Given the description of an element on the screen output the (x, y) to click on. 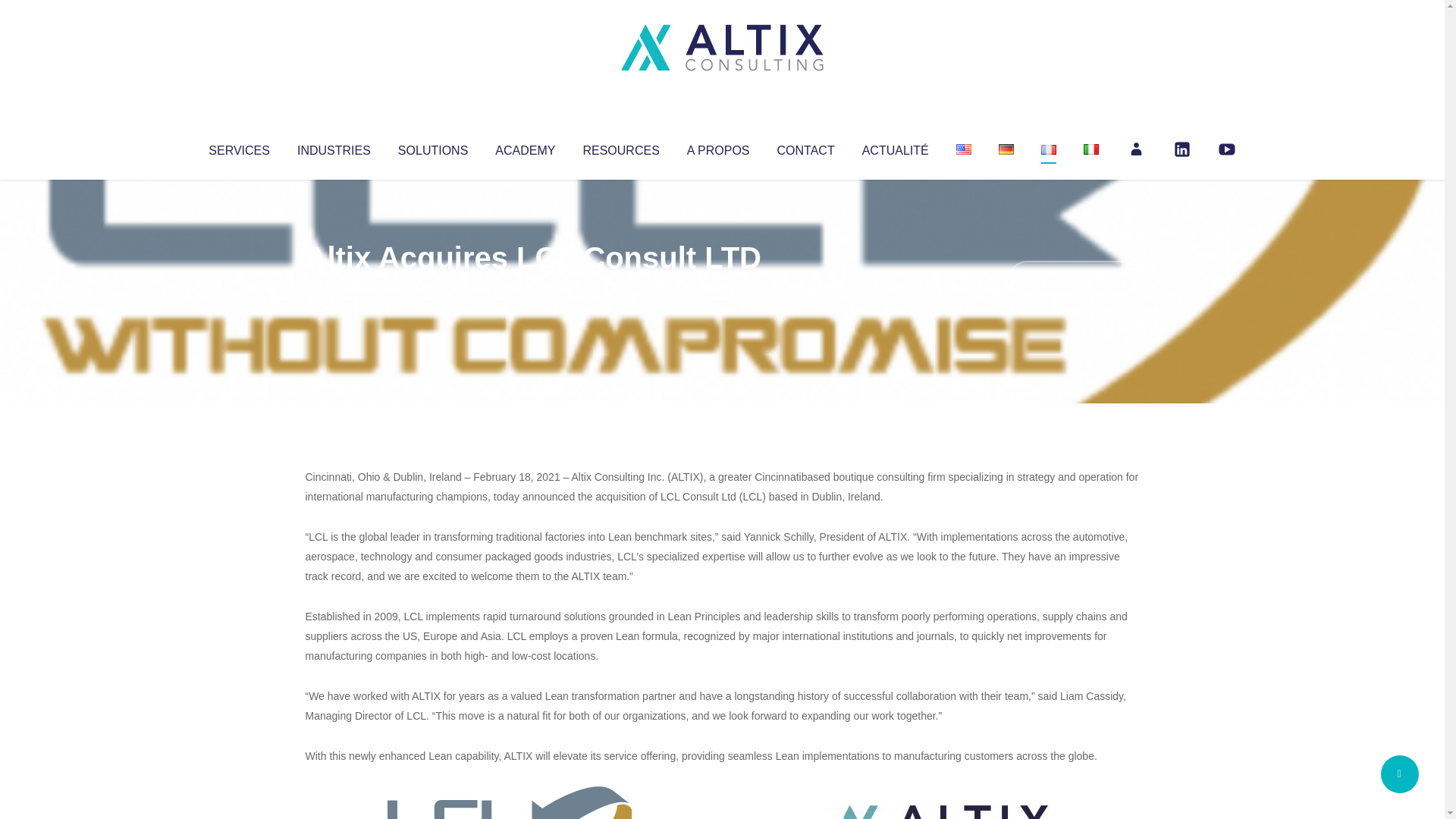
No Comments (1073, 278)
Uncategorized (530, 287)
RESOURCES (620, 146)
Articles par Altix (333, 287)
SERVICES (238, 146)
SOLUTIONS (432, 146)
INDUSTRIES (334, 146)
A PROPOS (718, 146)
Altix (333, 287)
ACADEMY (524, 146)
